Given the description of an element on the screen output the (x, y) to click on. 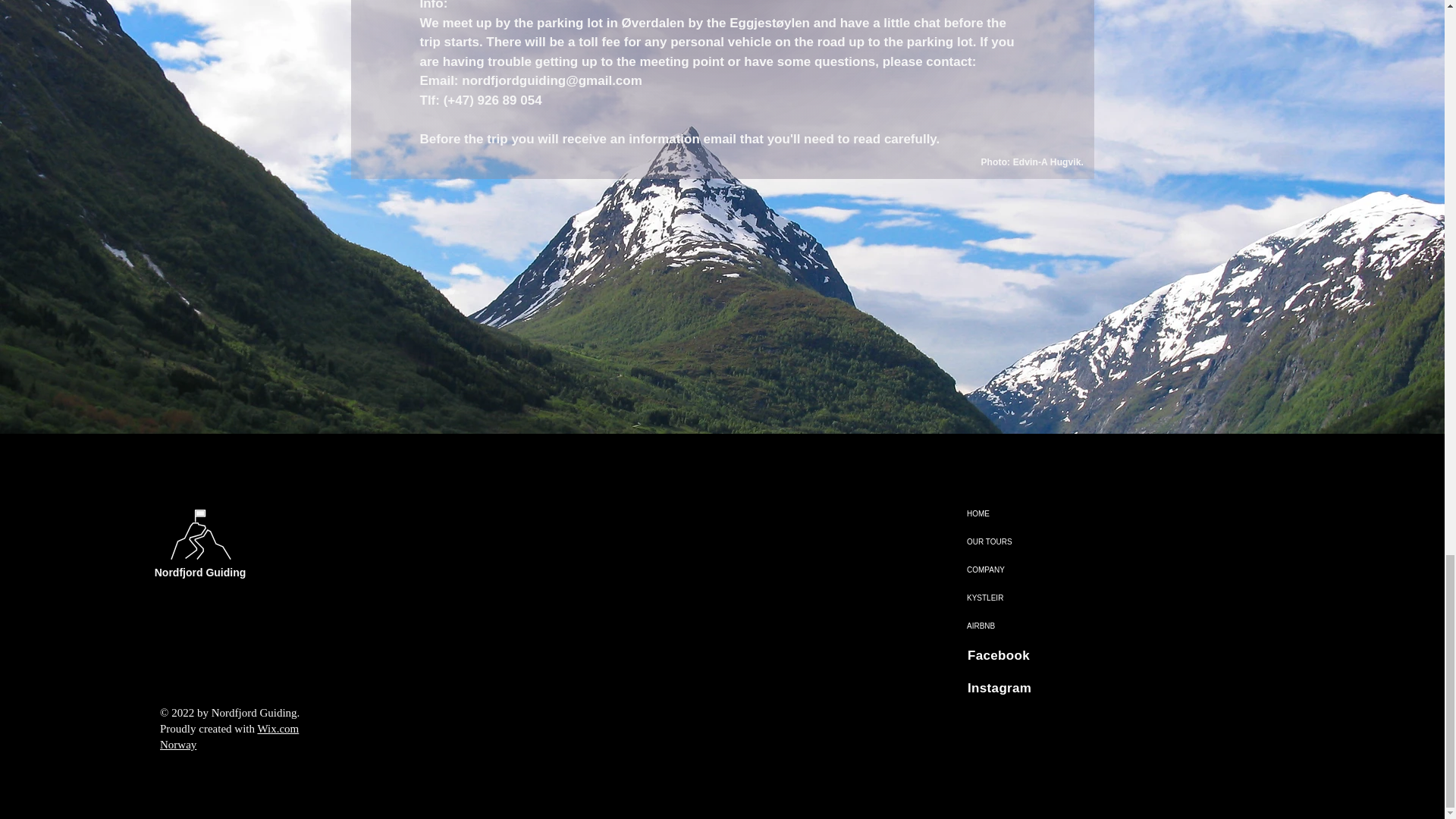
HOME (1000, 513)
Nordfjord Guiding (200, 572)
AIRBNB (1000, 625)
Wix.com (277, 728)
Facebook (998, 655)
KYSTLEIR (1000, 597)
Instagram (999, 687)
